Given the description of an element on the screen output the (x, y) to click on. 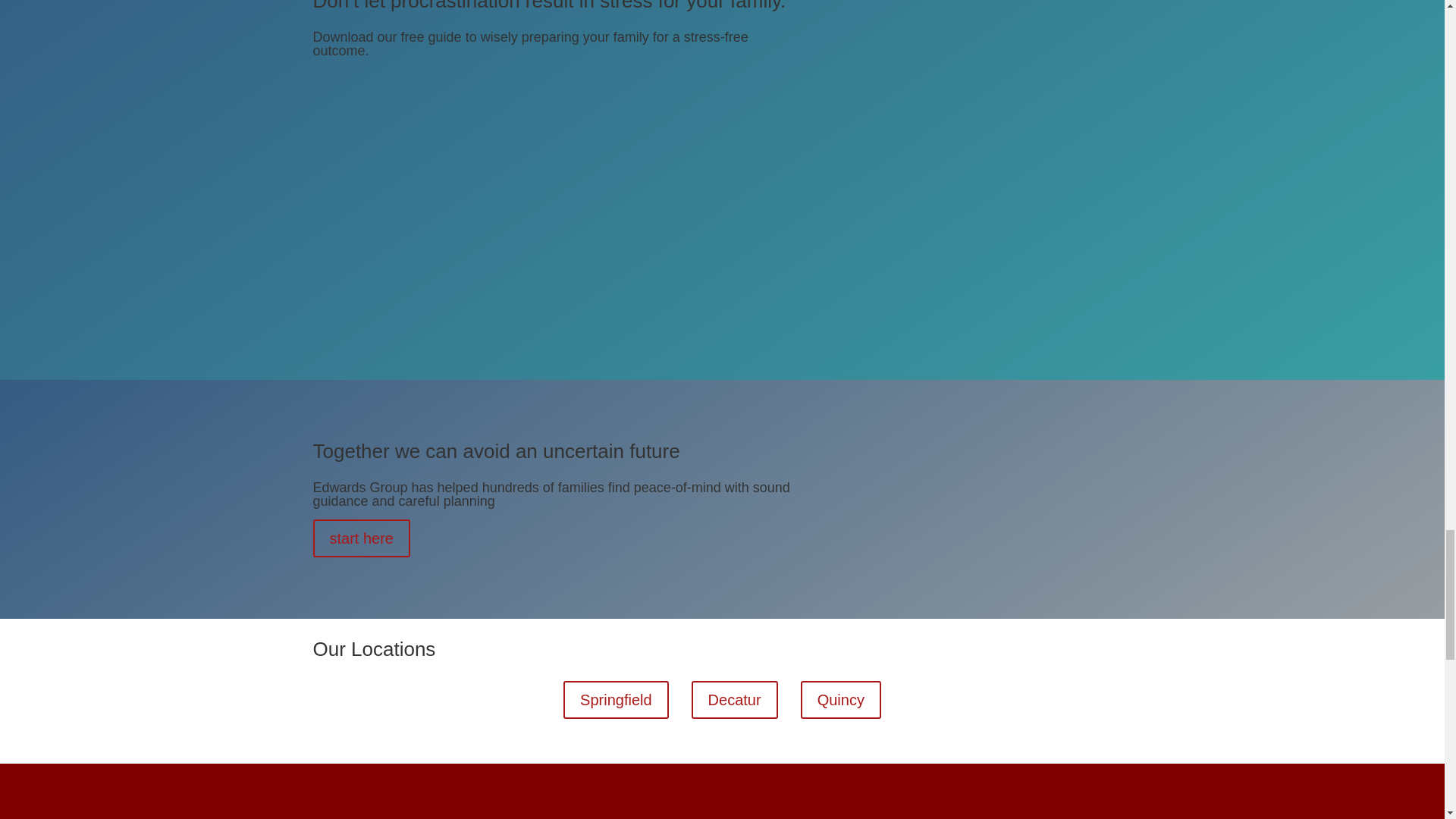
Quincy (840, 699)
start here (361, 538)
Decatur (734, 699)
Springfield (615, 699)
